Given the description of an element on the screen output the (x, y) to click on. 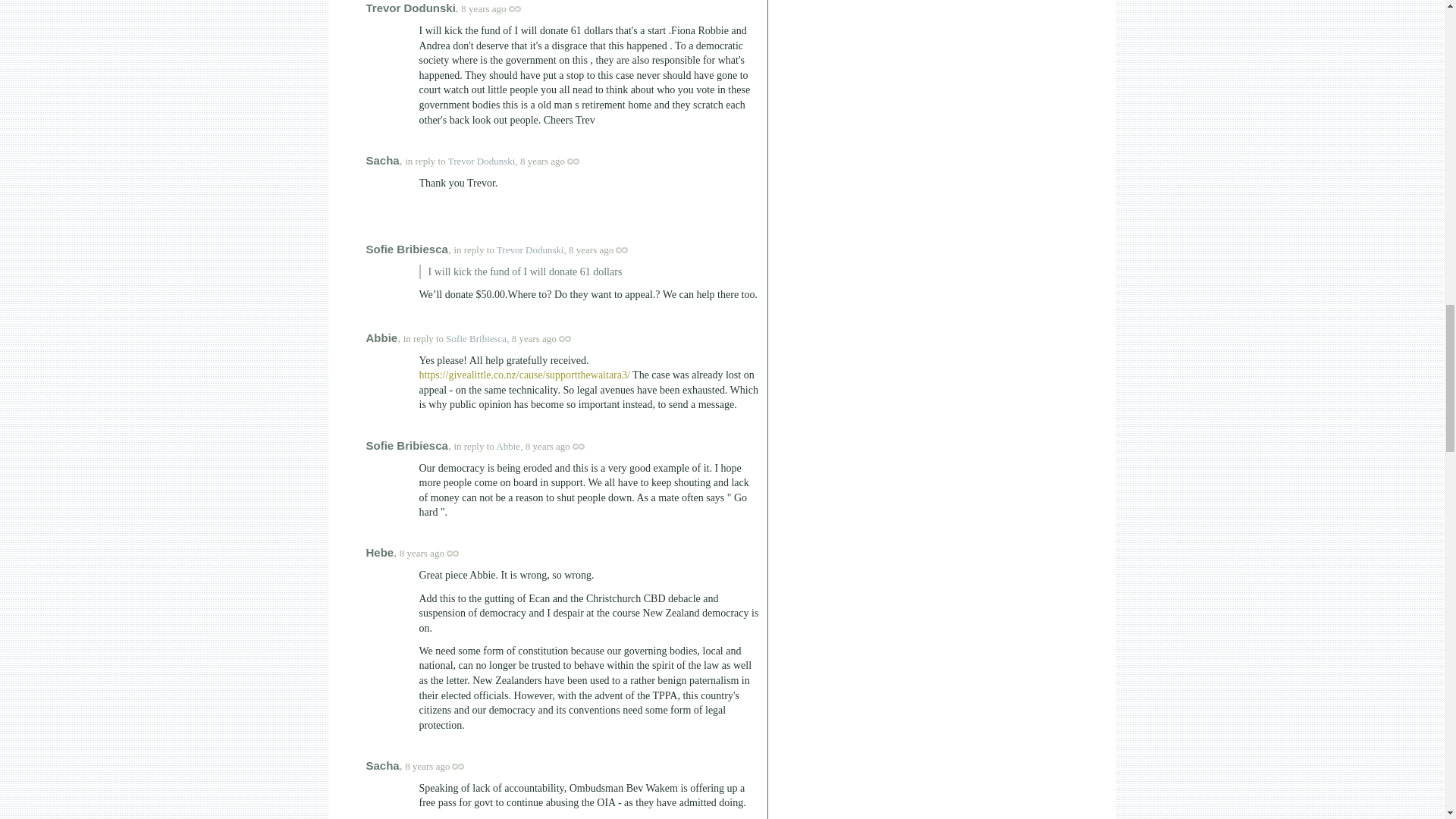
22:32 Dec 2, 2015 (421, 552)
08:06 Dec 2, 2015 (534, 337)
13:12 Dec 2, 2015 (547, 446)
22:18 Dec 1, 2015 (541, 161)
23:16 Dec 1, 2015 (590, 249)
07:56 Dec 3, 2015 (426, 766)
19:34 Dec 1, 2015 (483, 8)
